Given the description of an element on the screen output the (x, y) to click on. 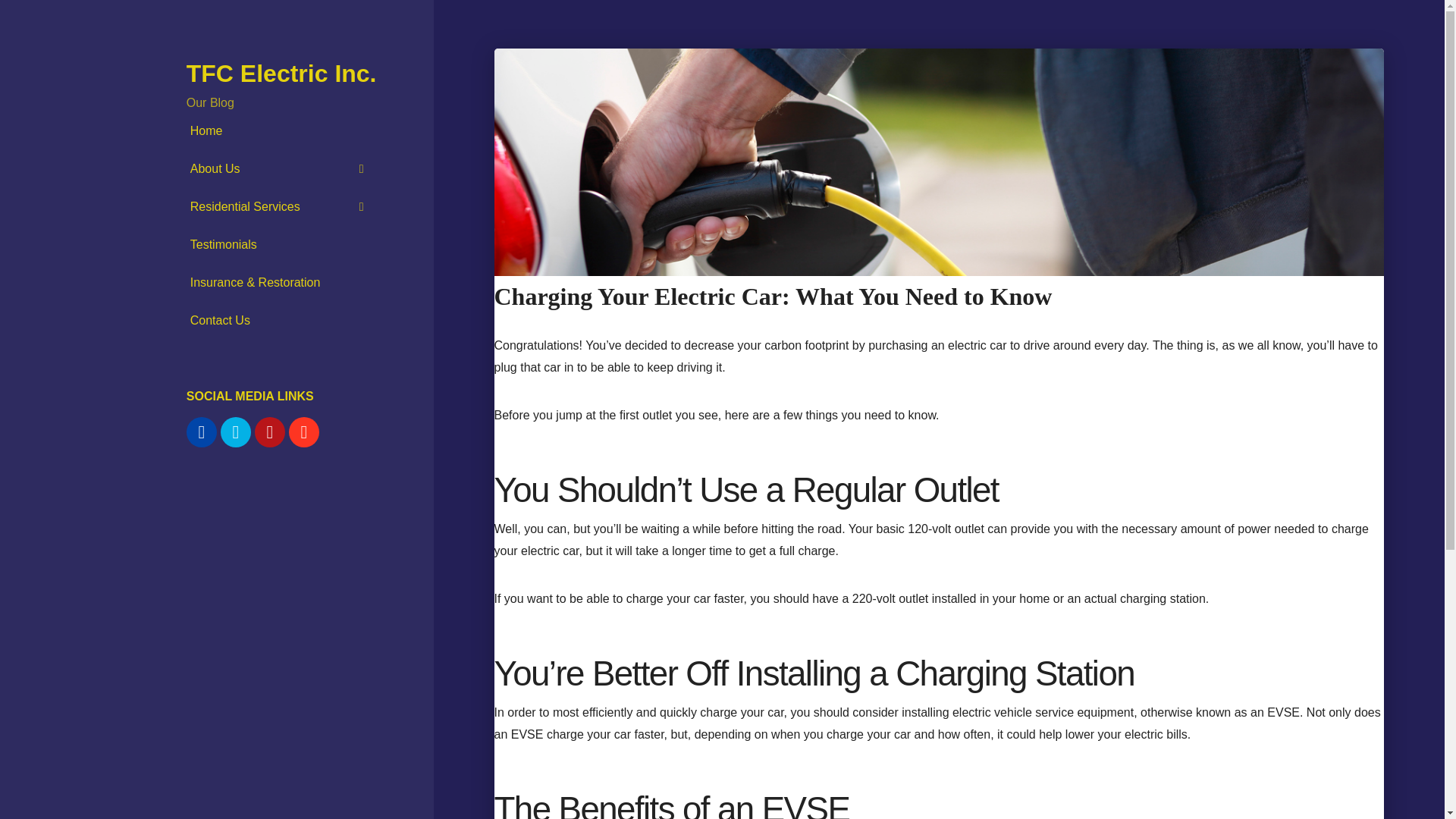
Residential Services (281, 207)
Home (281, 130)
Contact Us (281, 320)
About Us (281, 168)
Testimonials (281, 244)
